Given the description of an element on the screen output the (x, y) to click on. 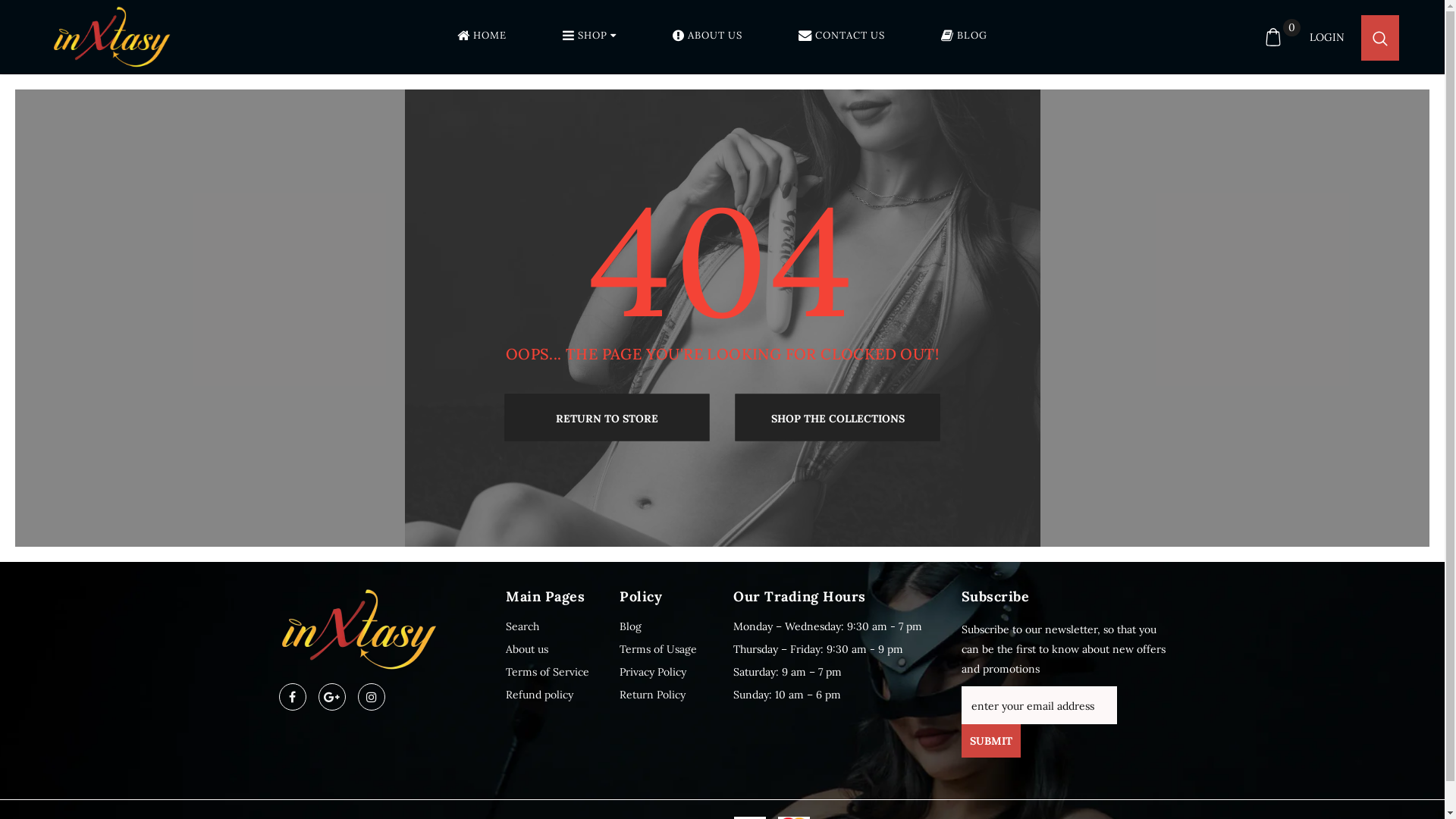
CONTACT US Element type: text (841, 38)
Blog Element type: text (630, 626)
Facebook Element type: hover (292, 696)
Search Icon Element type: hover (1379, 37)
About us Element type: text (526, 648)
0 Element type: text (1273, 37)
HOME Element type: text (481, 38)
Privacy Policy Element type: text (652, 671)
Terms of Usage Element type: text (657, 648)
Google+ Element type: hover (331, 696)
SHOP THE COLLECTIONS Element type: text (837, 416)
Logo Element type: hover (134, 37)
ABOUT US Element type: text (707, 38)
Return Policy Element type: text (652, 694)
Terms of Service Element type: text (547, 671)
Search Element type: text (522, 626)
Submit Element type: text (990, 740)
LOGIN Element type: text (1326, 36)
Refund policy Element type: text (539, 694)
RETURN TO STORE Element type: text (607, 416)
SHOP Element type: text (589, 38)
Instagram Element type: hover (371, 696)
BLOG Element type: text (964, 38)
